Given the description of an element on the screen output the (x, y) to click on. 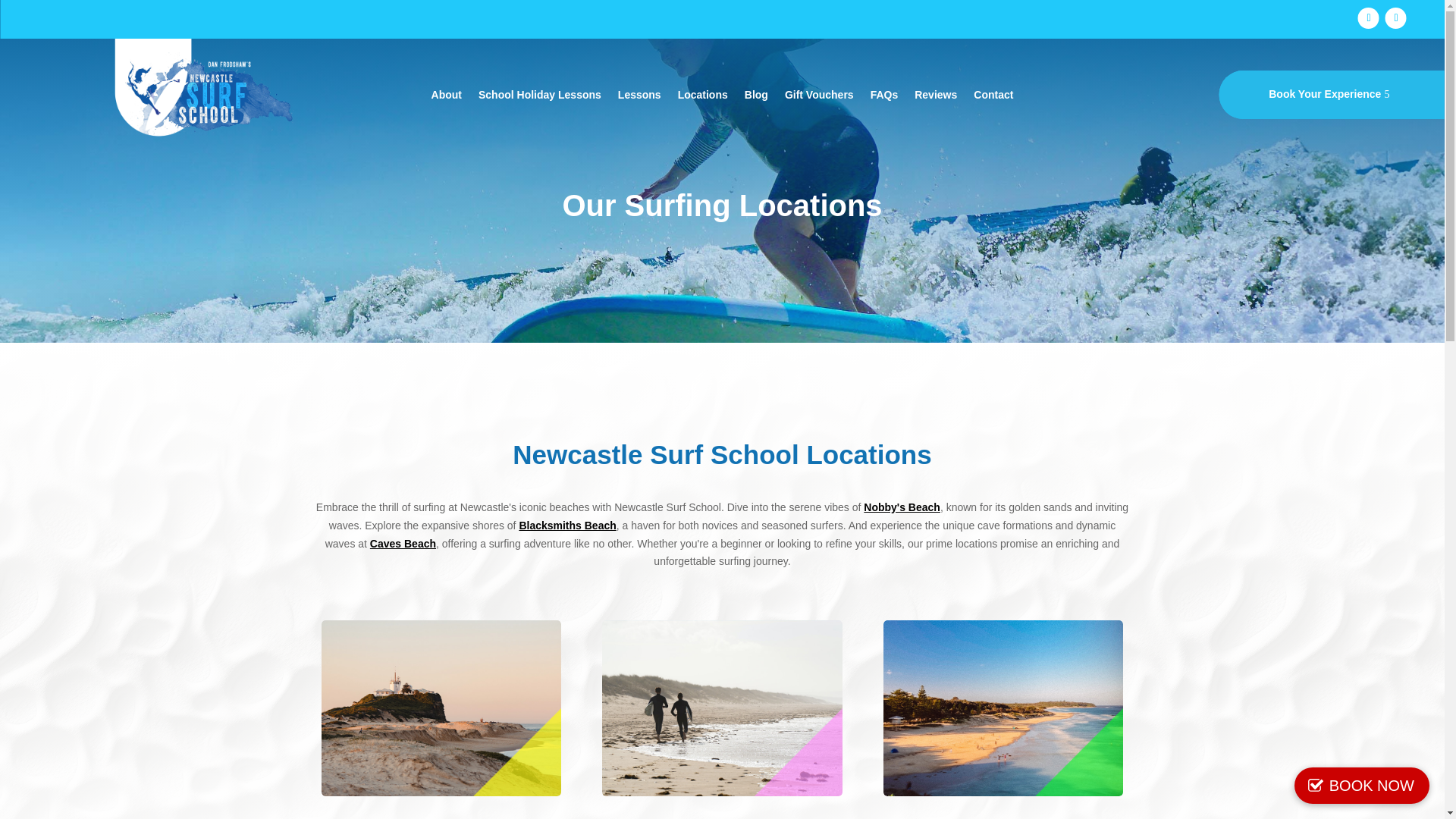
FAQs (884, 97)
Caves Beach (402, 543)
Blog (756, 97)
Locations (703, 97)
Nobby's Beach (901, 507)
Gift Vouchers (818, 97)
Contact (993, 97)
Follow on Facebook (1368, 17)
Reviews (935, 97)
Lessons (639, 97)
Follow on Instagram (1396, 17)
About (445, 97)
School Holiday Lessons (540, 97)
Newcastle Surf School (204, 94)
Blacksmiths Beach (566, 525)
